Given the description of an element on the screen output the (x, y) to click on. 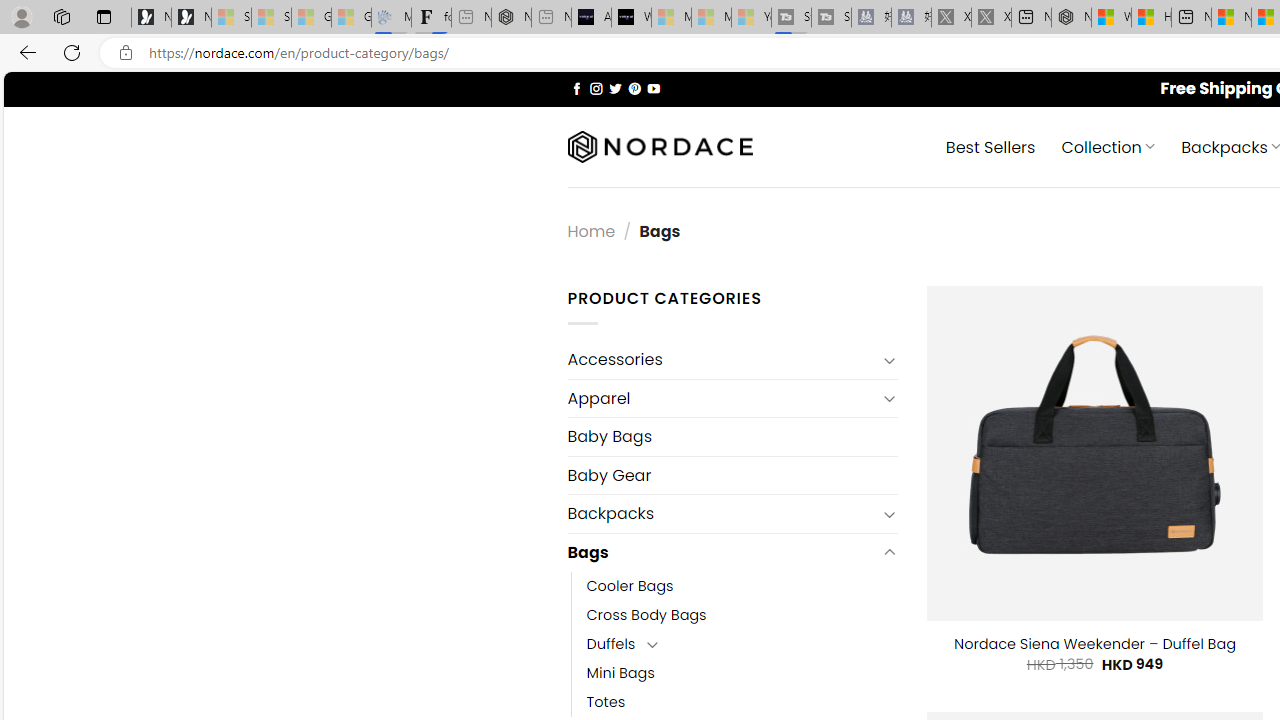
Cross Body Bags (646, 614)
Cooler Bags (742, 585)
Follow on YouTube (653, 88)
Huge shark washes ashore at New York City beach | Watch (1151, 17)
Duffels (611, 643)
Follow on Instagram (596, 88)
Mini Bags (742, 673)
Baby Gear (732, 475)
